Given the description of an element on the screen output the (x, y) to click on. 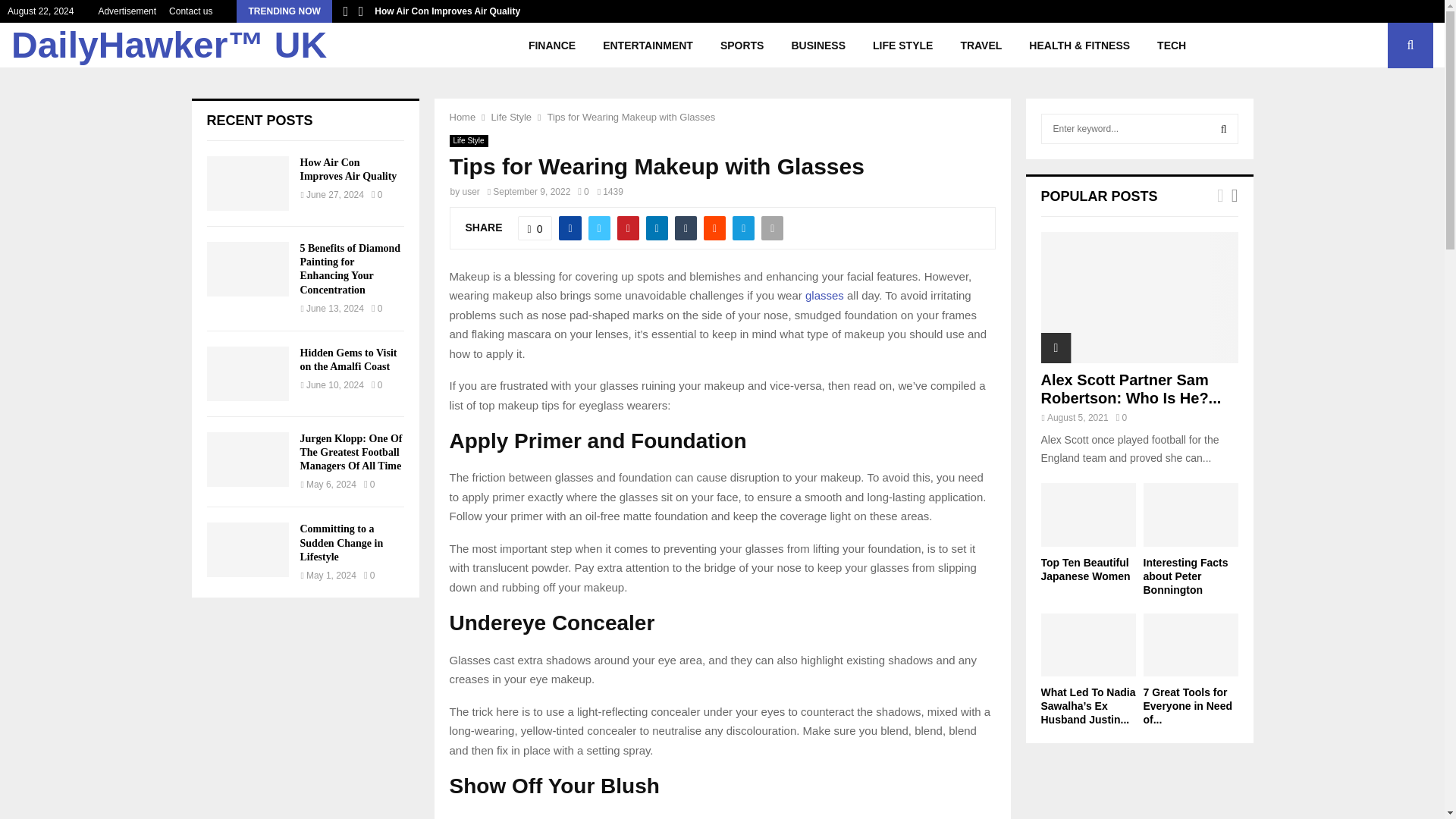
FINANCE (552, 44)
BUSINESS (818, 44)
Advertisement (126, 11)
ENTERTAINMENT (647, 44)
LIFE STYLE (902, 44)
How Air Con Improves Air Quality (446, 10)
TRAVEL (980, 44)
Contact us (190, 11)
SPORTS (741, 44)
Home (462, 116)
